Given the description of an element on the screen output the (x, y) to click on. 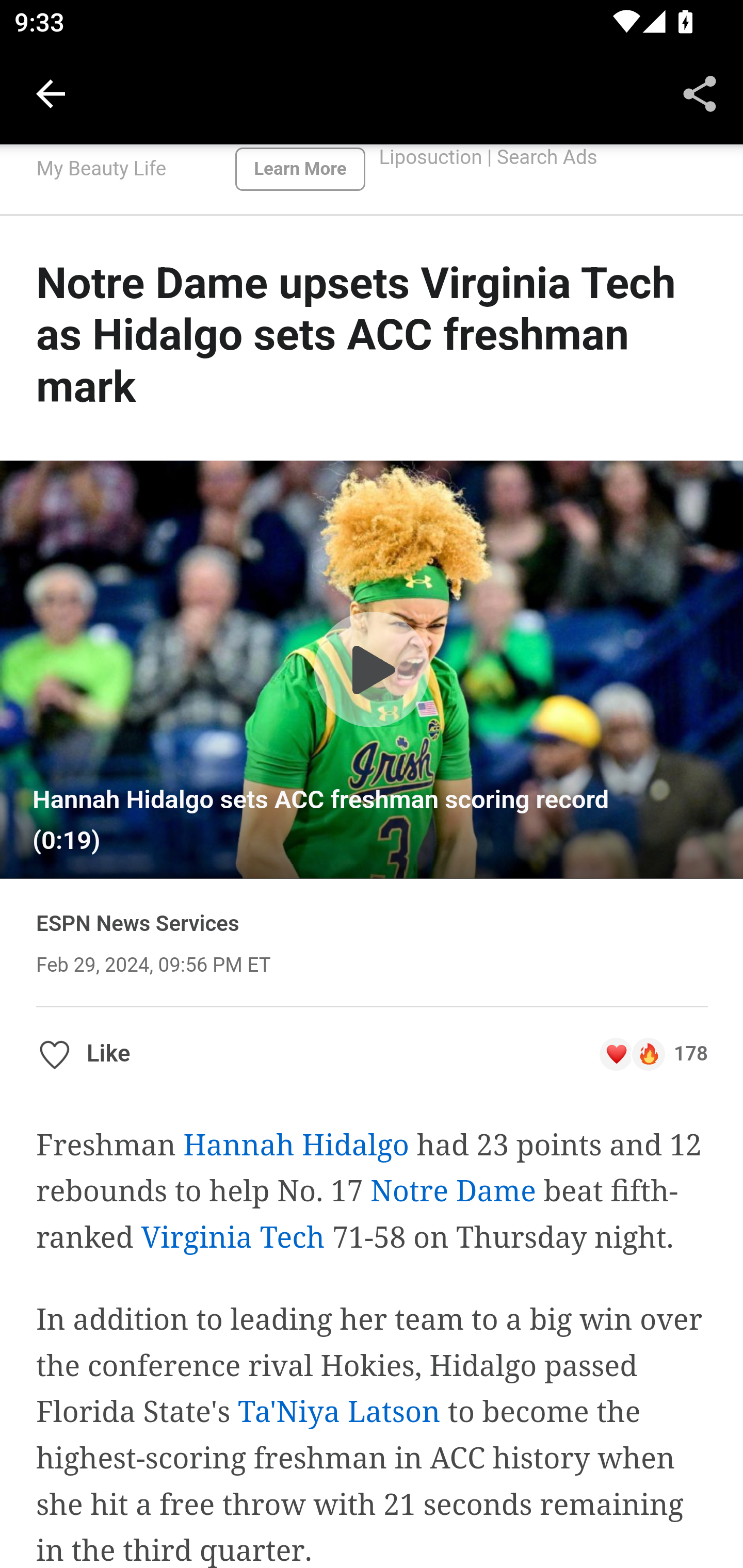
Navigate up (50, 93)
Share (699, 93)
Like (83, 1054)
Reaction count (653, 1054)
Hannah Hidalgo (295, 1145)
Notre Dame (453, 1190)
Virginia Tech (233, 1237)
Ta'Niya Latson (339, 1411)
